Given the description of an element on the screen output the (x, y) to click on. 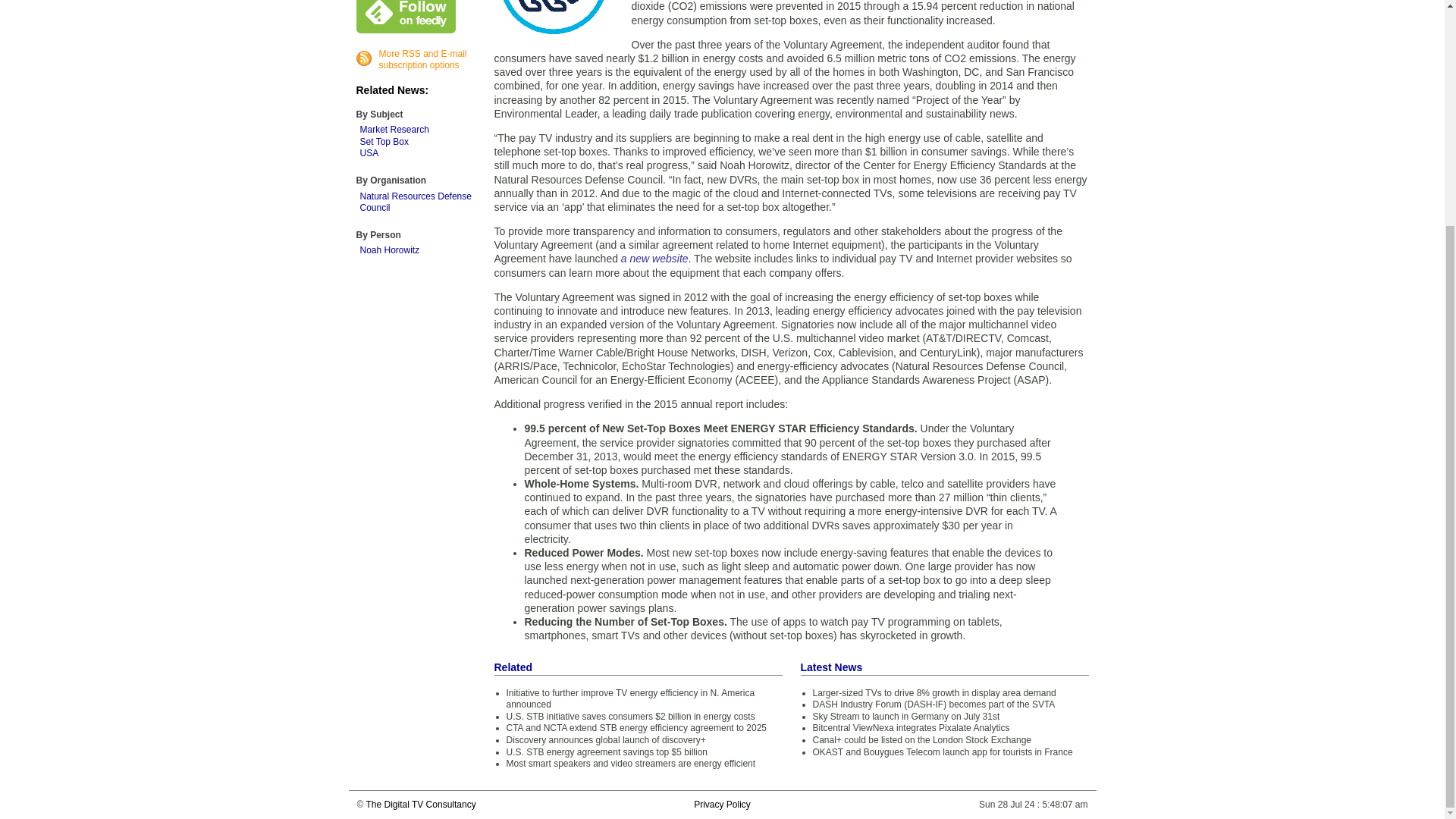
USA (368, 153)
Natural Resources Defense Council (414, 201)
More RSS and E-mail subscription options (422, 59)
a new website (654, 258)
Noah Horowitz (389, 249)
Market Research (393, 129)
Set Top Box (384, 141)
Most smart speakers and video streamers are energy efficient (630, 763)
CTA and NCTA extend STB energy efficiency agreement to 2025 (636, 727)
